Given the description of an element on the screen output the (x, y) to click on. 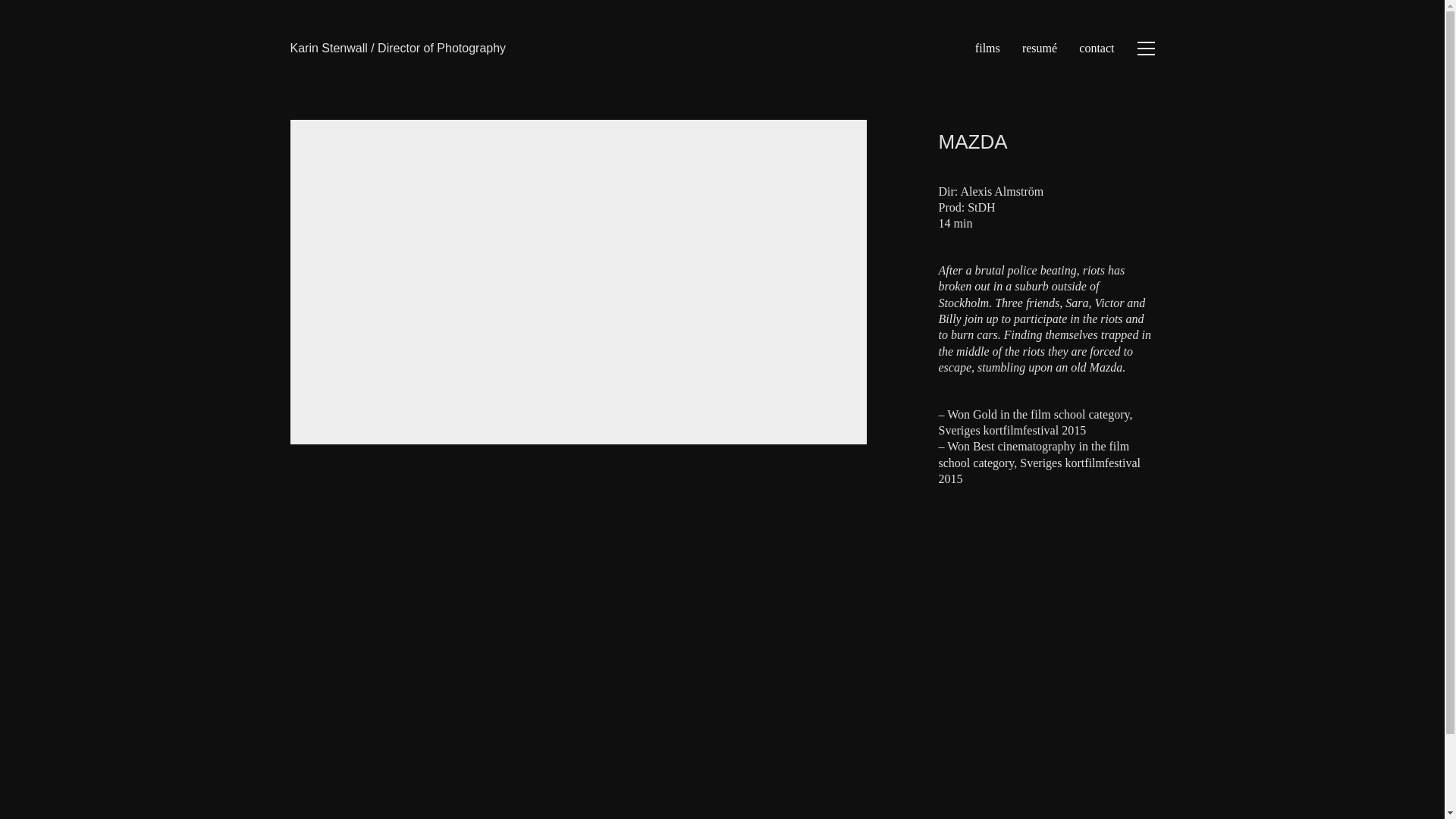
contact (1095, 48)
films (987, 48)
